Given the description of an element on the screen output the (x, y) to click on. 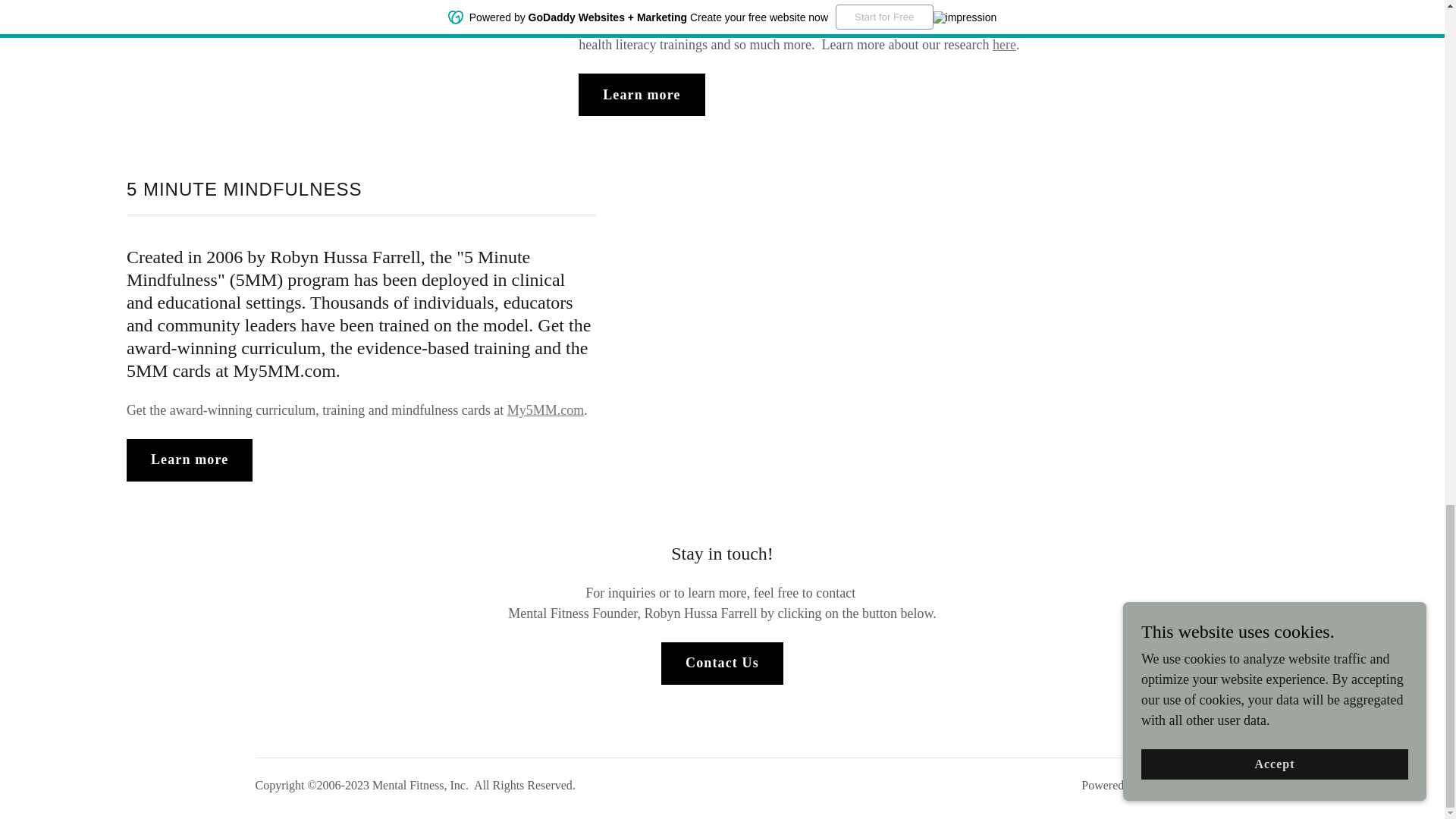
Learn more (641, 94)
Contact Us (722, 663)
Learn more (188, 459)
My5MM.com (545, 409)
here (1004, 44)
GoDaddy (1165, 784)
